Given the description of an element on the screen output the (x, y) to click on. 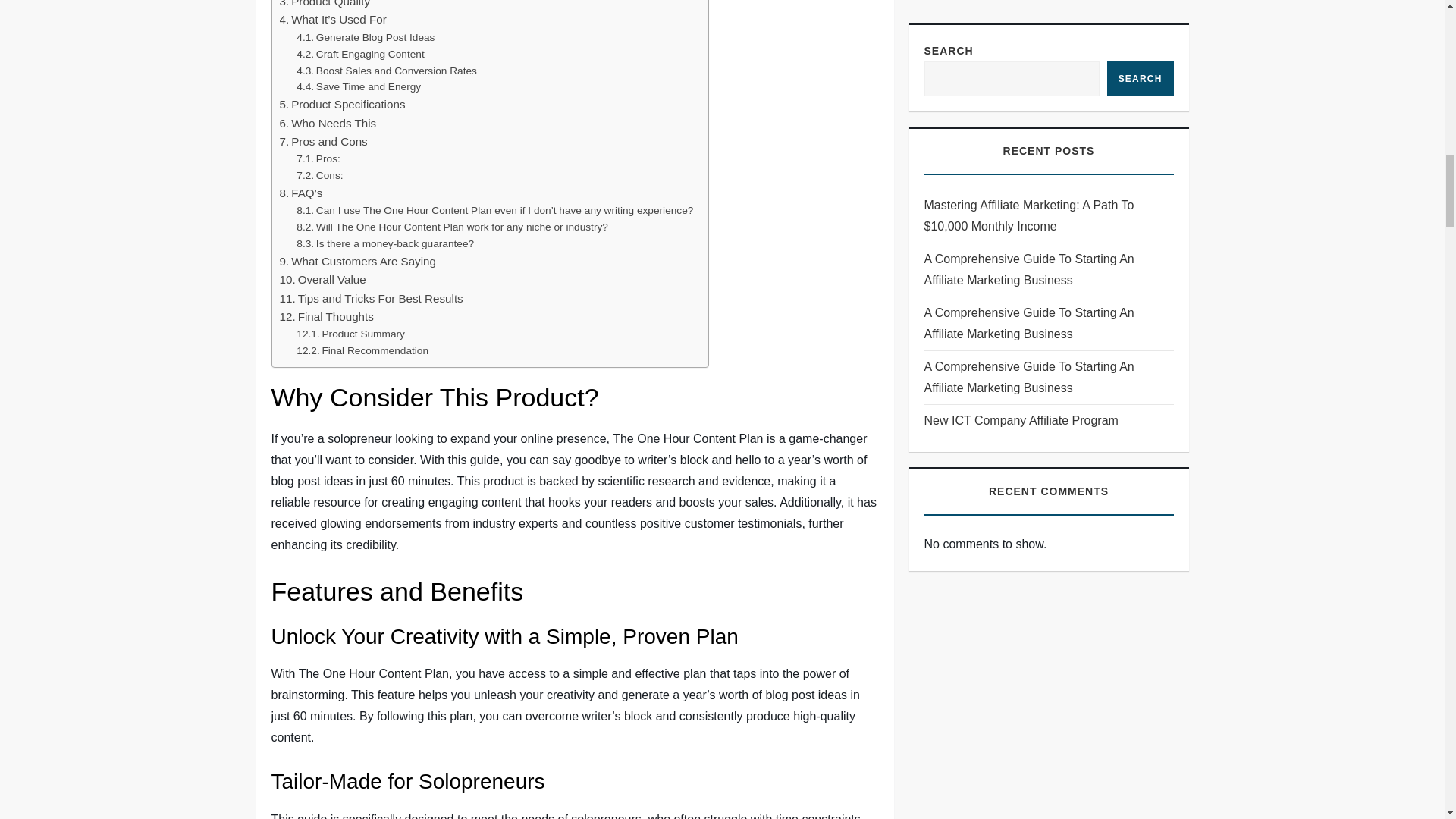
Overall Value (322, 280)
Tips and Tricks For Best Results (371, 298)
Product Quality (324, 5)
Final Thoughts (325, 316)
What Customers Are Saying (357, 261)
Product Specifications (341, 104)
Pros: (318, 158)
Generate Blog Post Ideas (365, 37)
Pros and Cons (322, 141)
Final Recommendation (362, 351)
Product Specifications (341, 104)
Generate Blog Post Ideas (365, 37)
Product Quality (324, 5)
Cons: (319, 175)
